Given the description of an element on the screen output the (x, y) to click on. 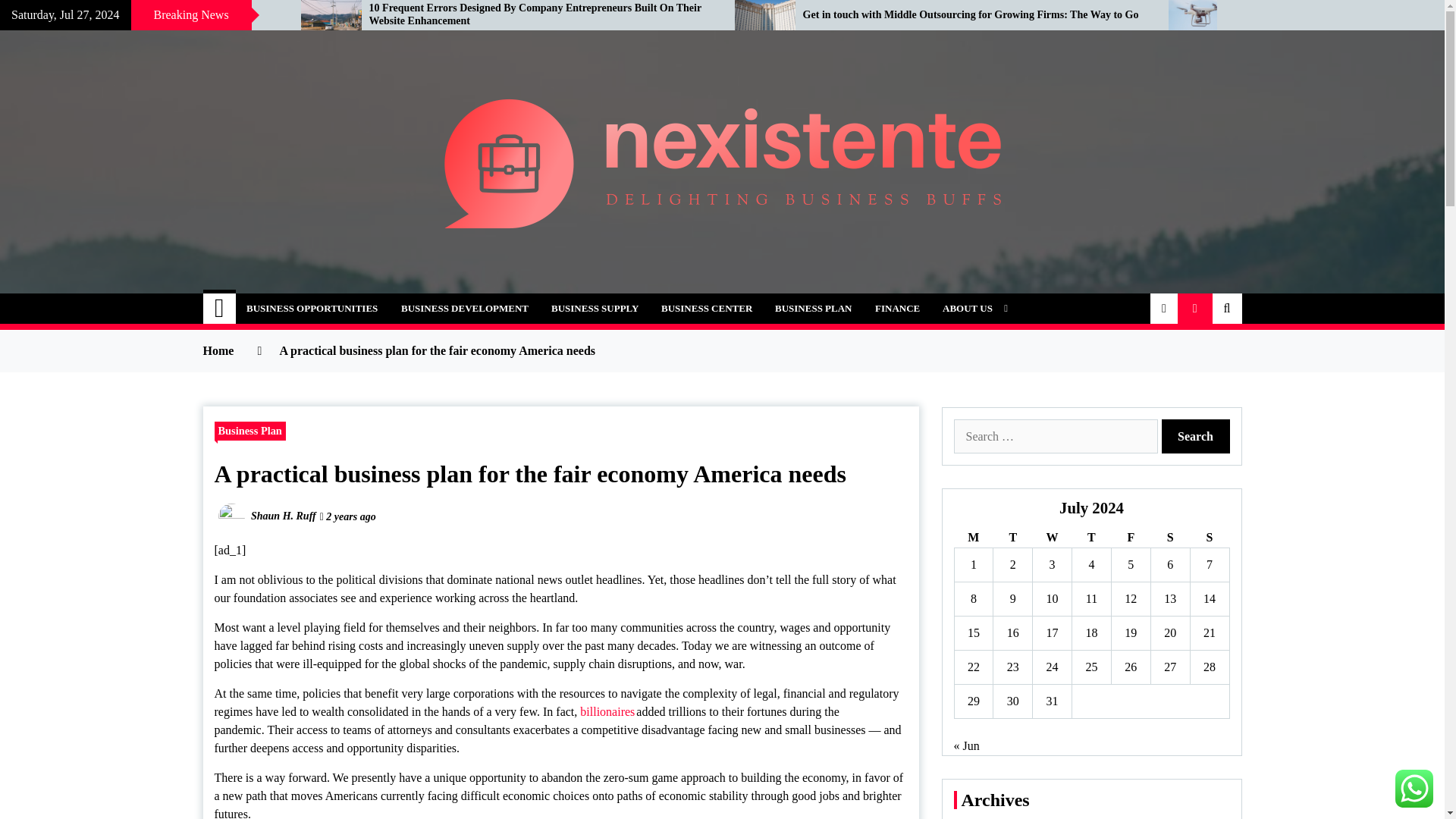
Thursday (1091, 537)
Tuesday (1012, 537)
The Most effective Branson Lodges on the Strip (139, 15)
Home (219, 308)
Monday (972, 537)
Sunday (1208, 537)
Search (1195, 436)
Search (1195, 436)
Saturday (1169, 537)
Friday (1130, 537)
Wednesday (1051, 537)
